Given the description of an element on the screen output the (x, y) to click on. 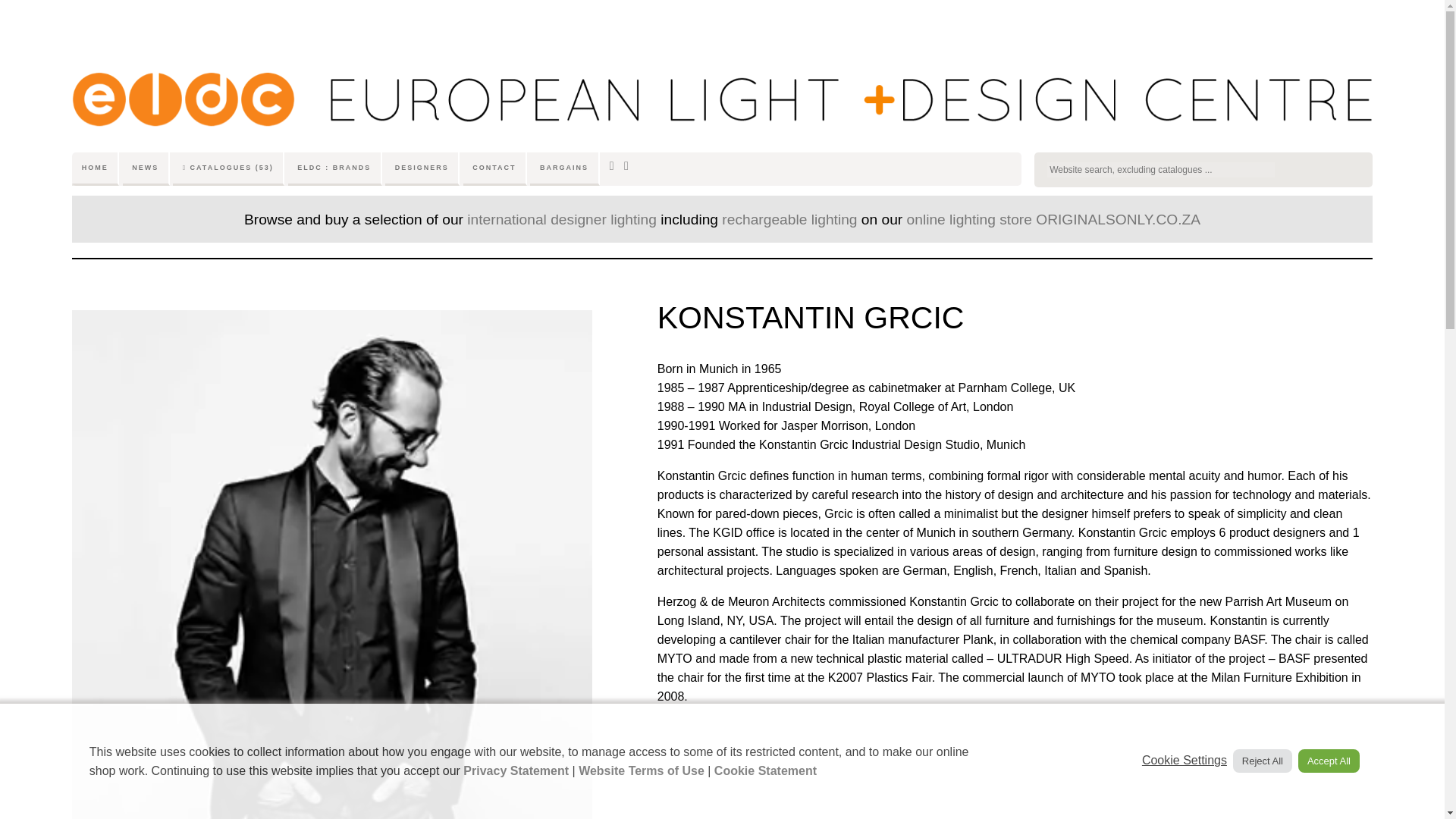
HOME (95, 164)
ELDC : BRANDS (334, 164)
online lighting store (969, 219)
international designer lighting (561, 219)
DESIGNERS (422, 164)
rechargeable lighting (789, 219)
BARGAINS (563, 164)
CONTACT (495, 164)
NEWS (146, 164)
ORIGINALSONLY.CO.ZA (1117, 219)
